Given the description of an element on the screen output the (x, y) to click on. 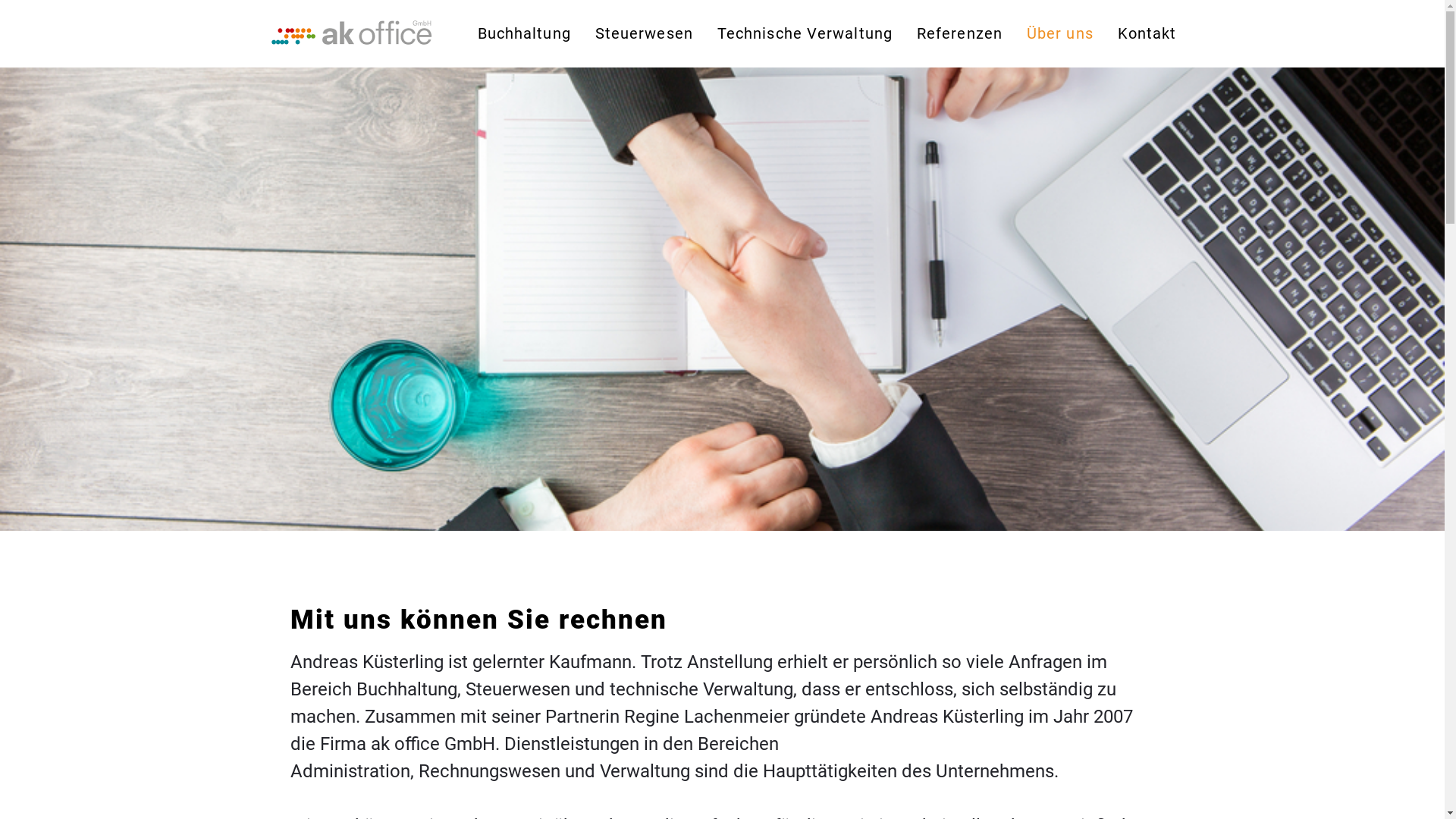
Buchhaltung Element type: text (524, 33)
Steuerwesen Element type: text (644, 33)
Kontakt Element type: text (1147, 33)
Referenzen Element type: text (959, 33)
Technische Verwaltung Element type: text (804, 33)
